Given the description of an element on the screen output the (x, y) to click on. 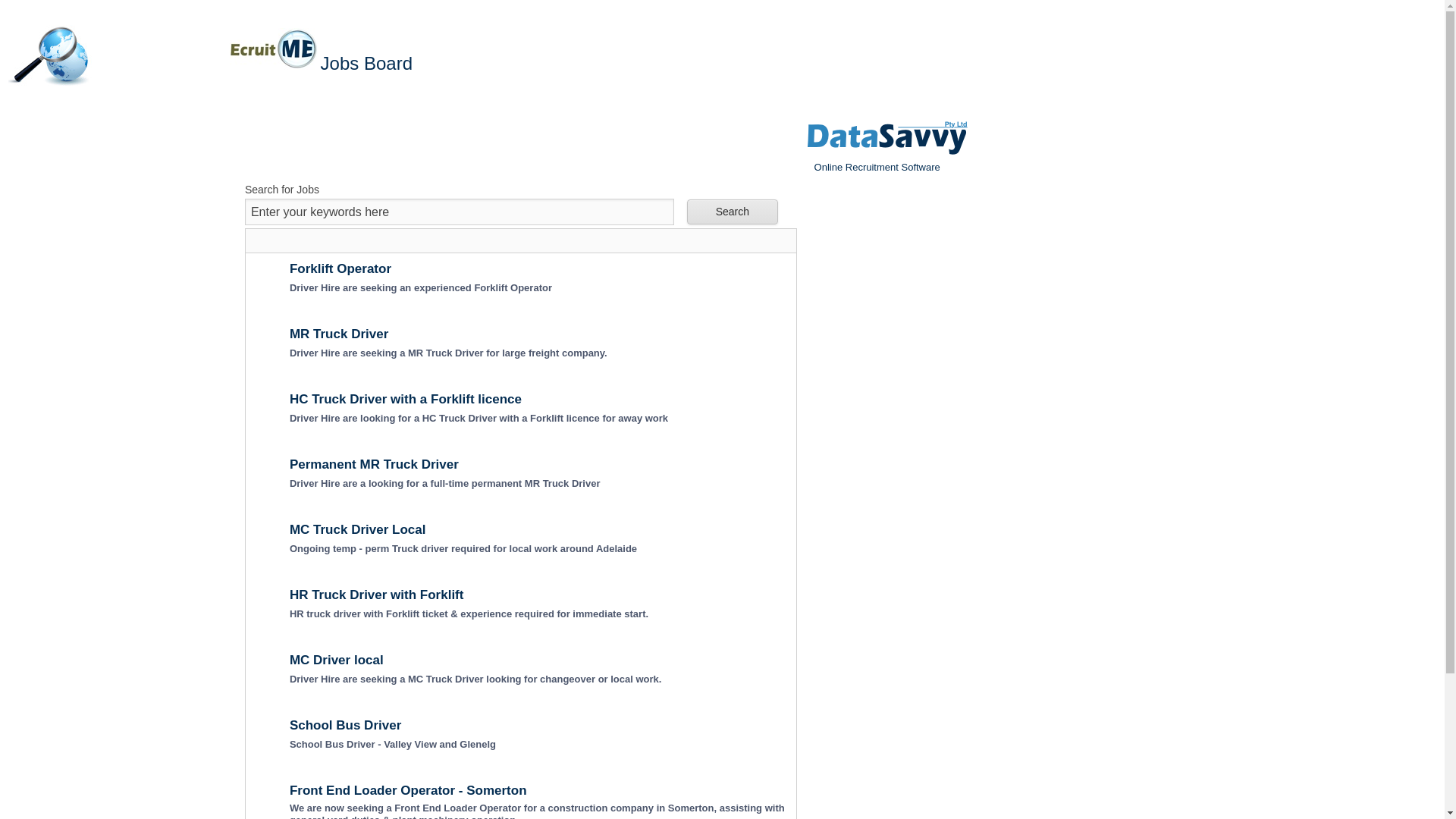
Advertisement Element type: hover (127, 455)
Advertisement Element type: hover (919, 455)
Advertisement Element type: hover (520, 143)
